Given the description of an element on the screen output the (x, y) to click on. 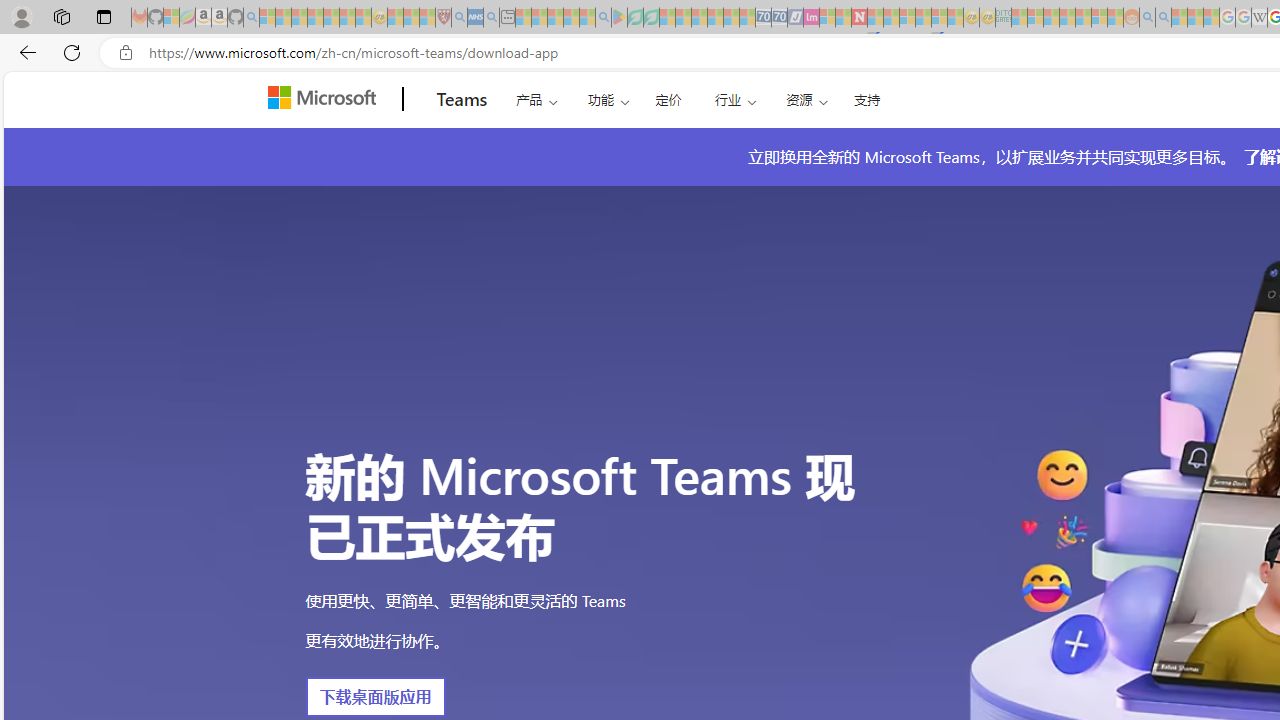
Utah sues federal government - Search - Sleeping (1163, 17)
New Report Confirms 2023 Was Record Hot | Watch - Sleeping (331, 17)
Microsoft (326, 99)
Kinda Frugal - MSN - Sleeping (1083, 17)
Recipes - MSN - Sleeping (395, 17)
The Weather Channel - MSN - Sleeping (299, 17)
